Given the description of an element on the screen output the (x, y) to click on. 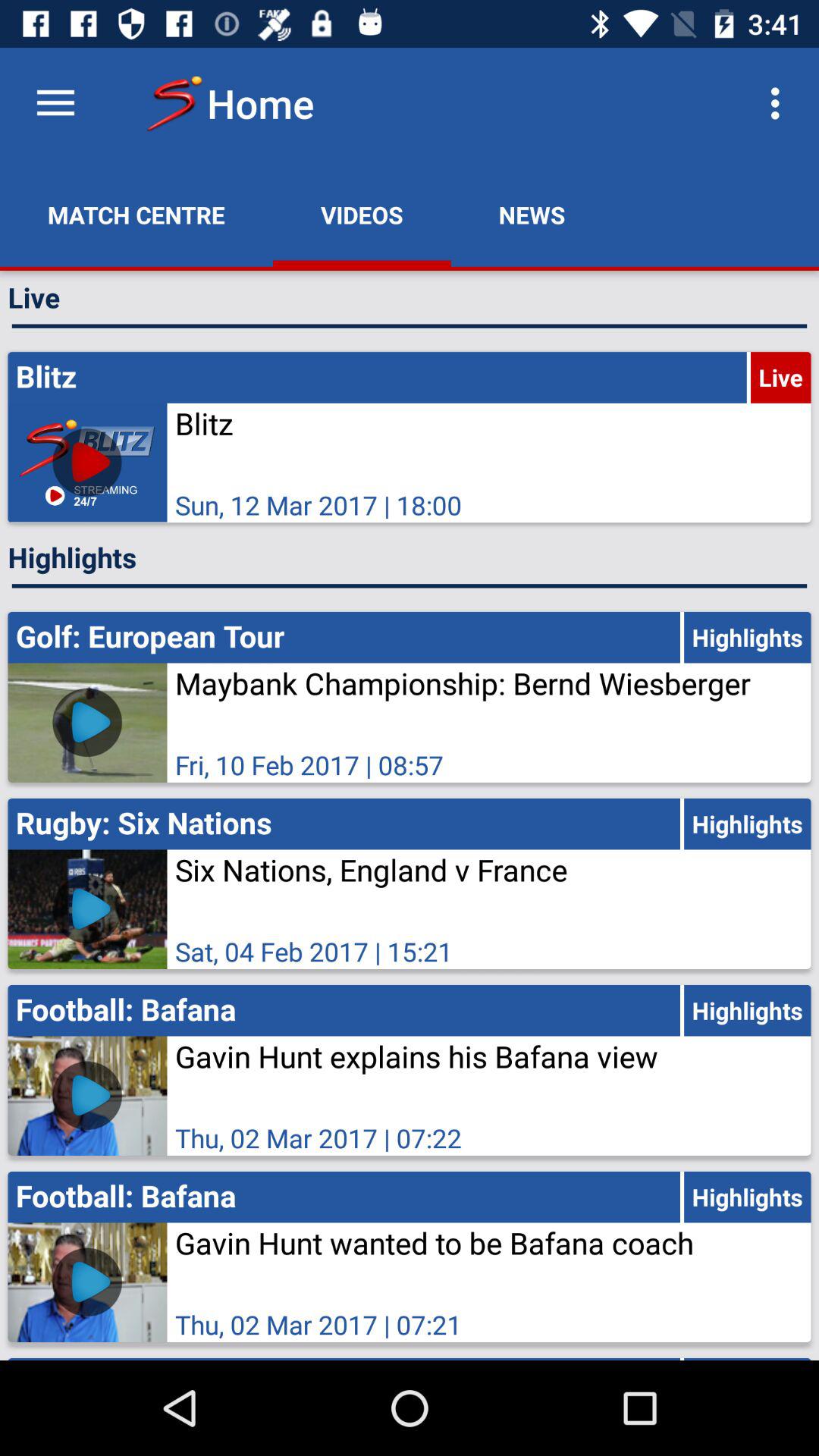
turn off the item next to the videos item (136, 214)
